Given the description of an element on the screen output the (x, y) to click on. 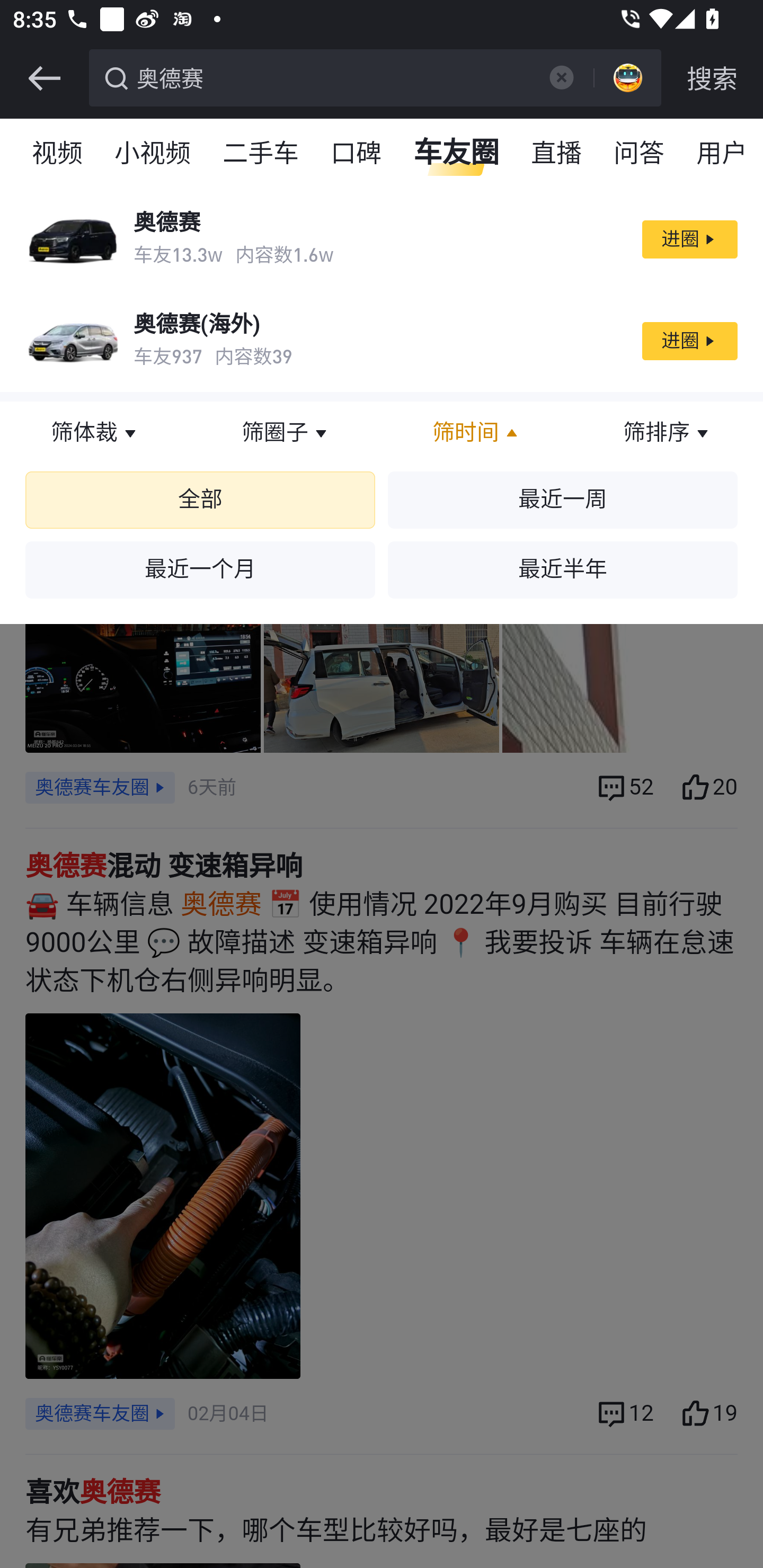
奥德赛 (331, 76)
 (560, 77)
 (44, 78)
搜索 (711, 78)
视频 (57, 153)
小视频 (153, 153)
二手车 (261, 153)
口碑 (356, 153)
车友圈 (456, 153)
直播 (556, 153)
问答 (639, 153)
用户 (721, 153)
奥德赛 车友13.3w内容数1.6w 进圈 (381, 239)
进圈 (688, 239)
奥德赛(海外) 车友937内容数39 进圈 (381, 341)
进圈 (688, 340)
筛体裁 (95, 433)
筛圈子 (285, 433)
筛时间 (476, 433)
筛排序 (667, 433)
